Given the description of an element on the screen output the (x, y) to click on. 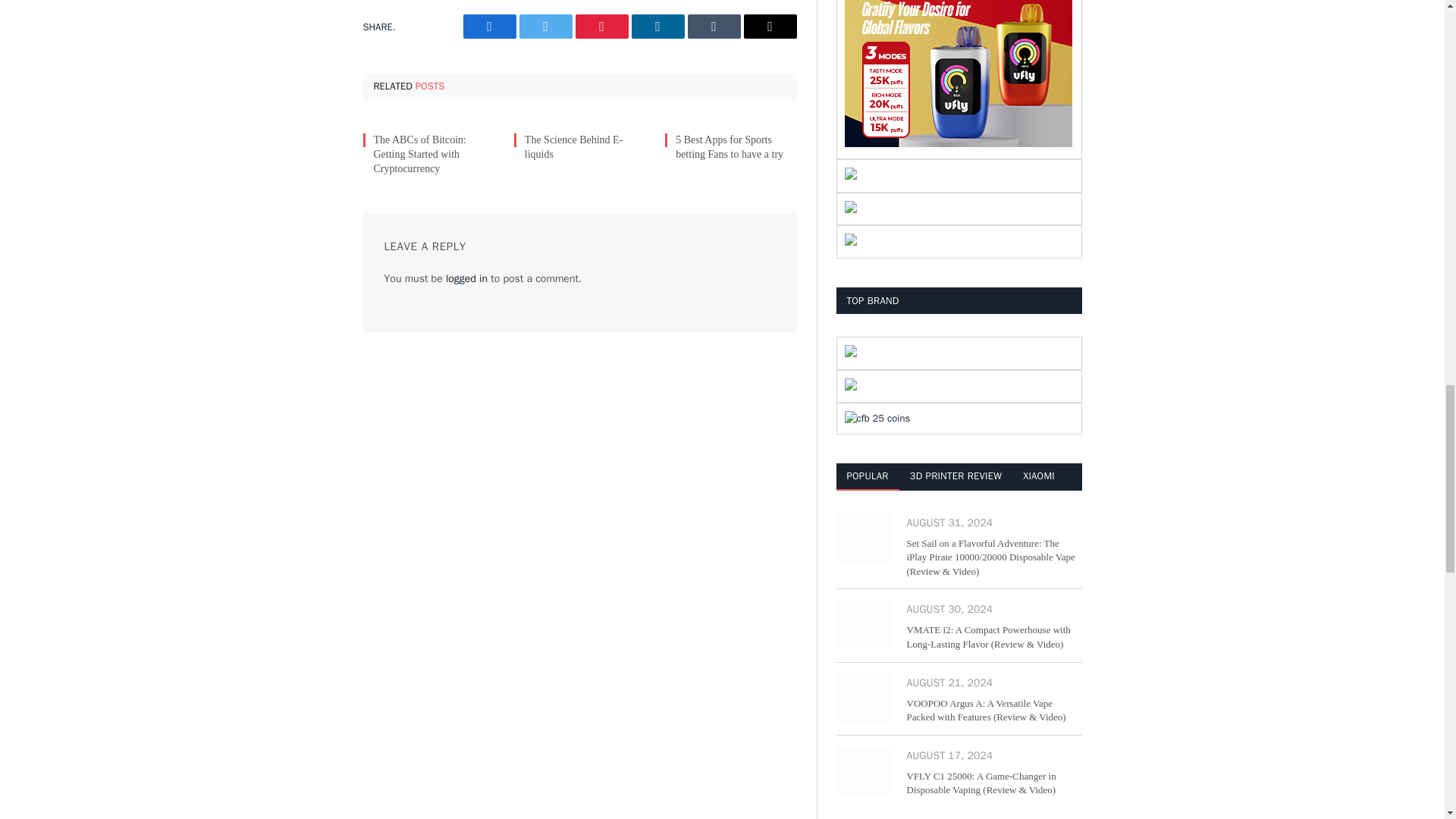
Share on Tumblr (713, 26)
Share on Twitter (545, 26)
Share on Facebook (489, 26)
Share on LinkedIn (657, 26)
Share on Pinterest (601, 26)
